Given the description of an element on the screen output the (x, y) to click on. 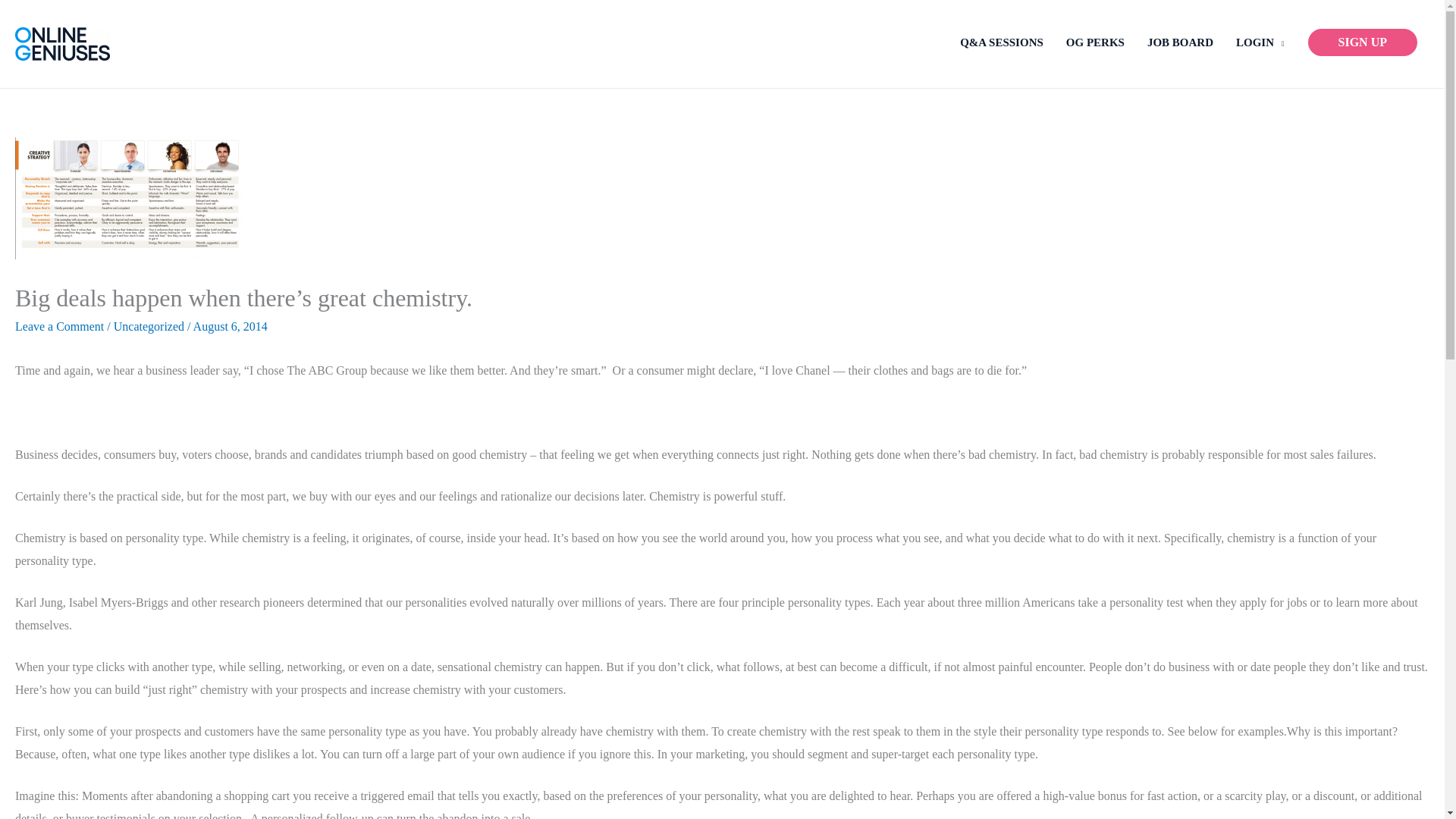
SIGN UP (1361, 42)
Leave a Comment (58, 326)
JOB BOARD (1179, 42)
LOGIN (1259, 42)
Uncategorized (148, 326)
OG PERKS (1094, 42)
